Given the description of an element on the screen output the (x, y) to click on. 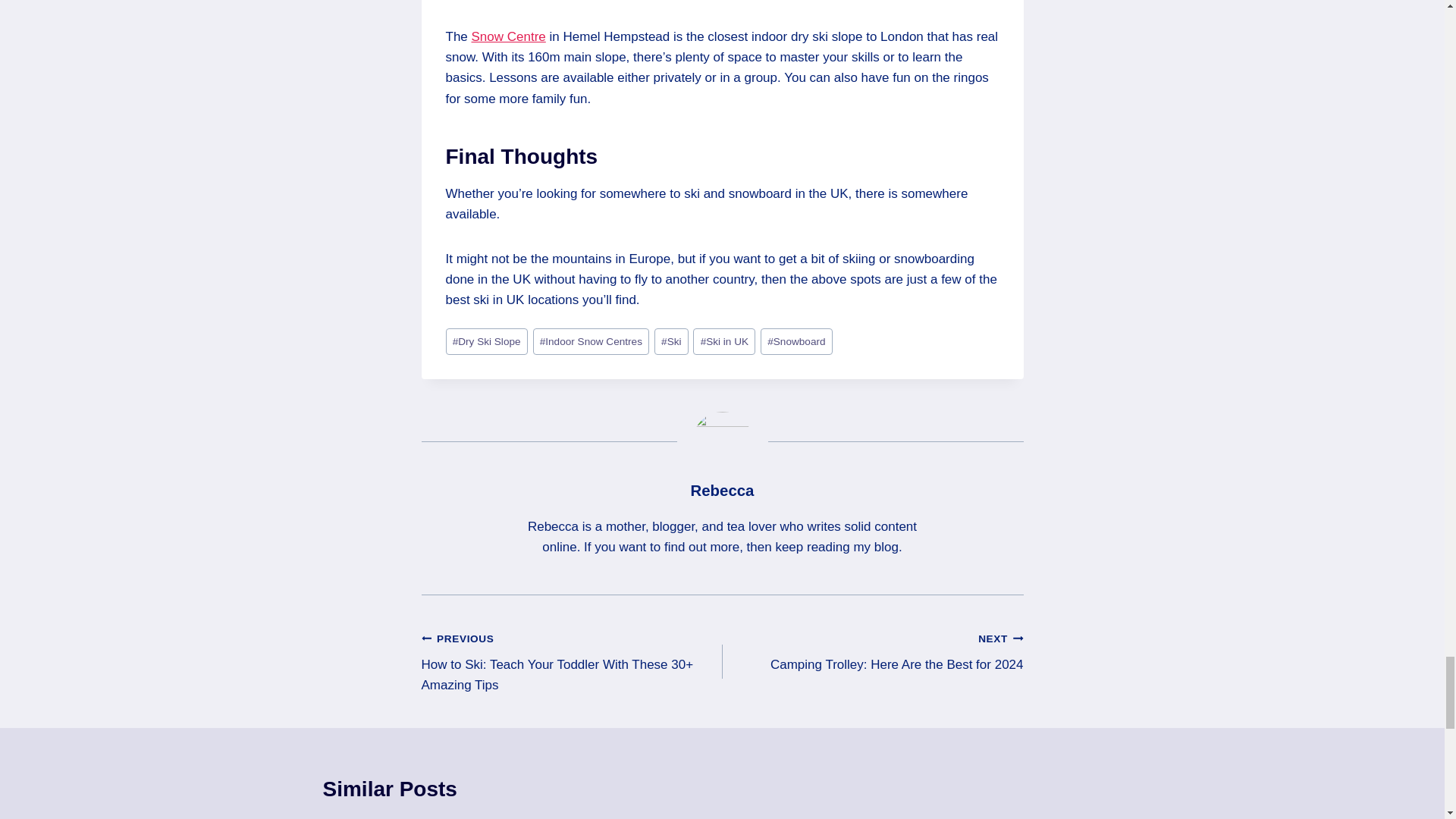
Ski (670, 341)
Ski in UK (724, 341)
Posts by Rebecca (722, 490)
Snowboard (796, 341)
Indoor Snow Centres (590, 341)
Rebecca (722, 490)
Snow Centre (508, 36)
Dry Ski Slope (486, 341)
